Given the description of an element on the screen output the (x, y) to click on. 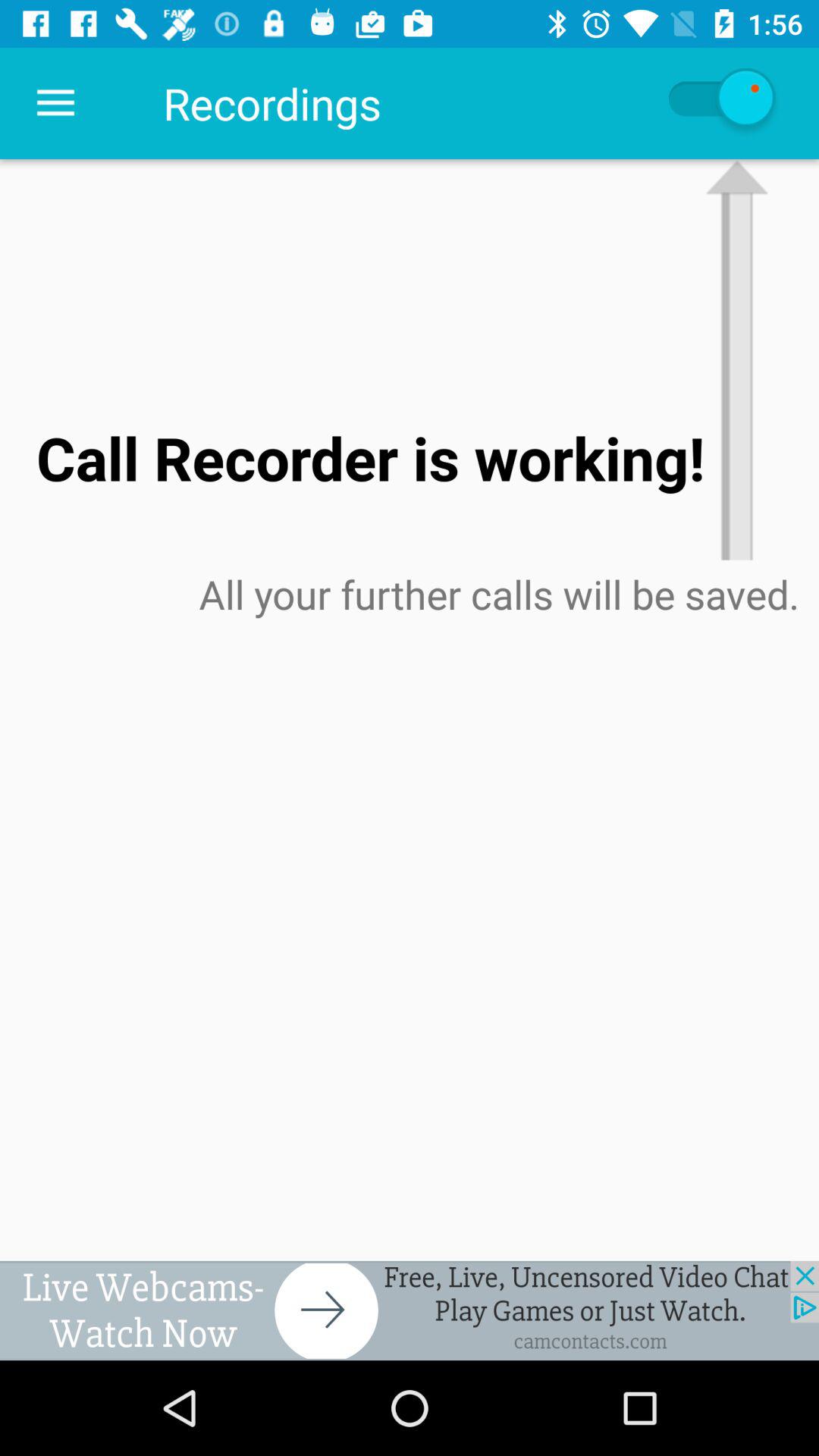
toggle on and off (719, 103)
